Given the description of an element on the screen output the (x, y) to click on. 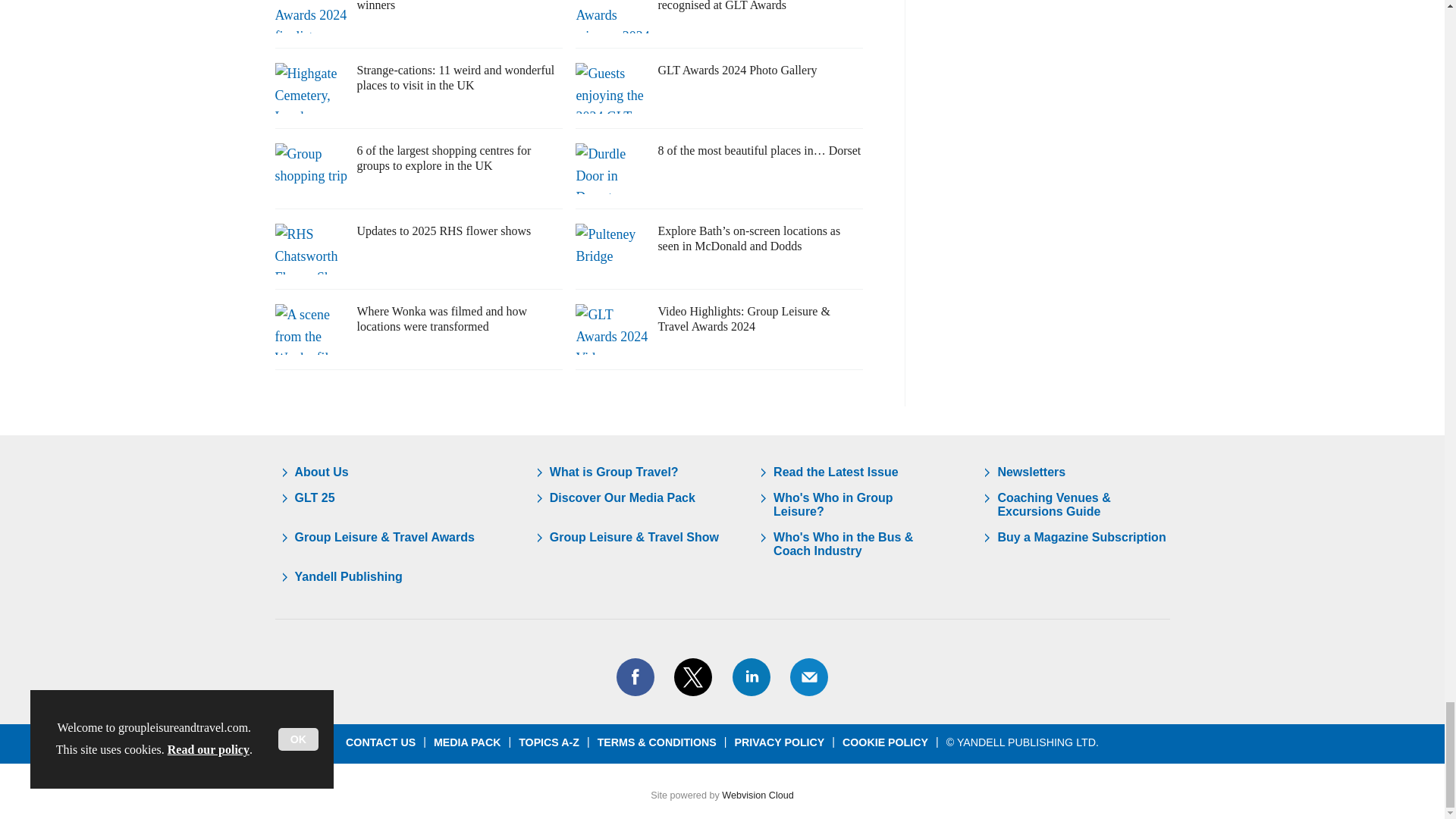
Email us (808, 676)
Follow us on Facebook (635, 676)
Follow us on LinkedIn (750, 676)
